Given the description of an element on the screen output the (x, y) to click on. 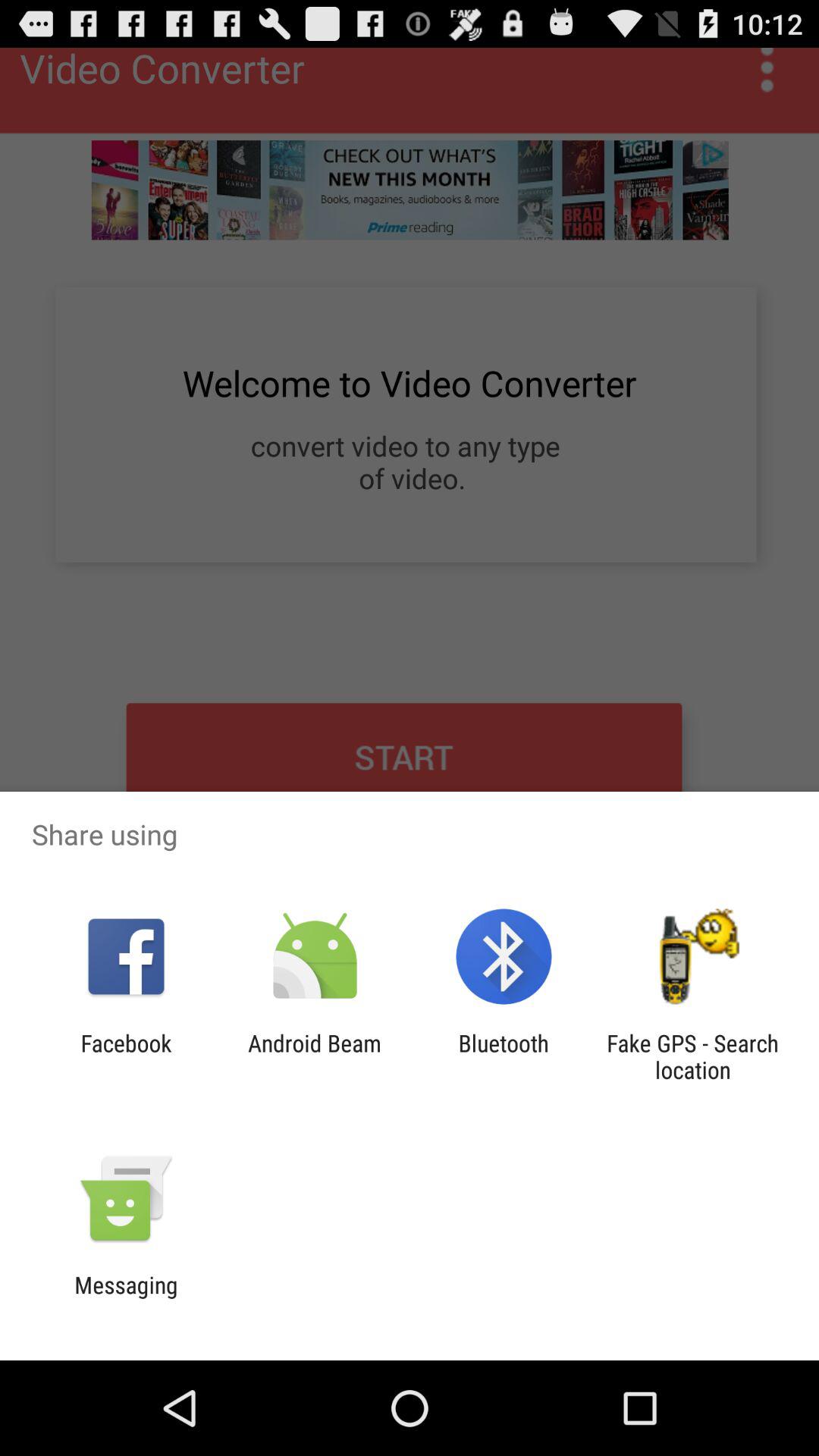
flip until messaging (126, 1298)
